Given the description of an element on the screen output the (x, y) to click on. 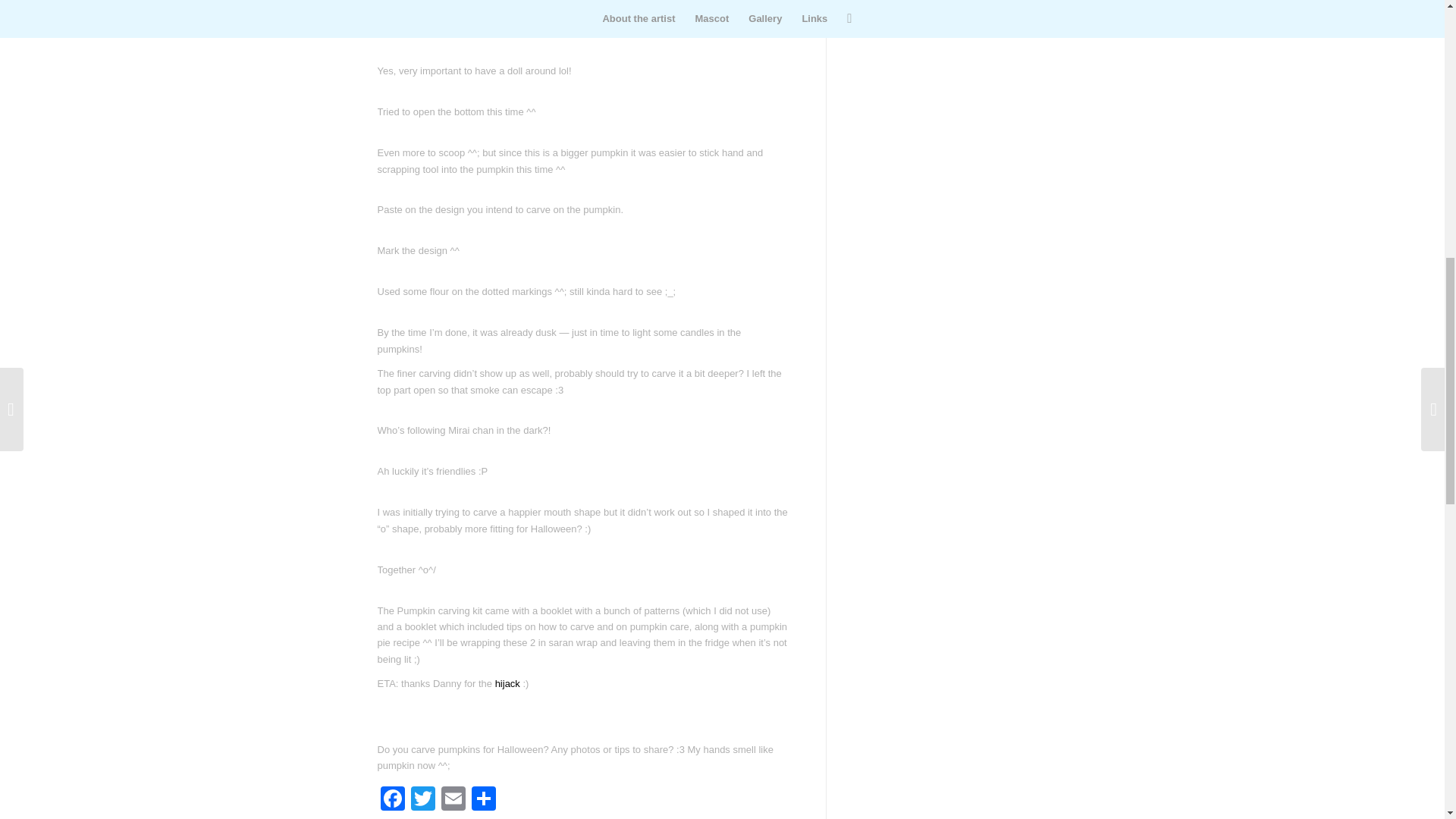
Email (453, 800)
Facebook (392, 800)
Email (453, 800)
Facebook (392, 800)
Twitter (422, 800)
Twitter (422, 800)
hijack (507, 683)
